Given the description of an element on the screen output the (x, y) to click on. 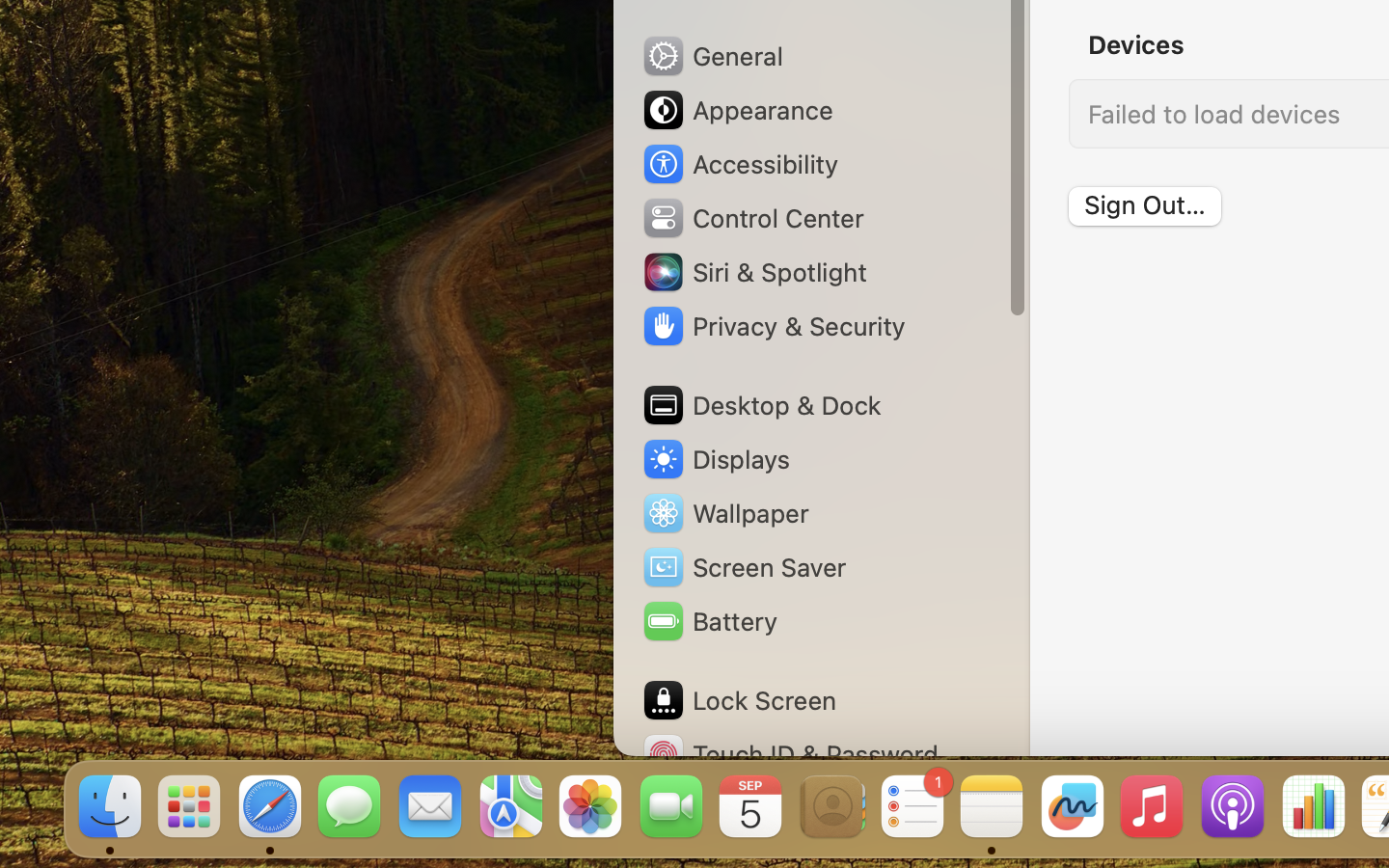
Battery Element type: AXStaticText (708, 620)
Accessibility Element type: AXStaticText (739, 163)
Screen Saver Element type: AXStaticText (743, 566)
Wallpaper Element type: AXStaticText (724, 512)
General Element type: AXStaticText (711, 55)
